Given the description of an element on the screen output the (x, y) to click on. 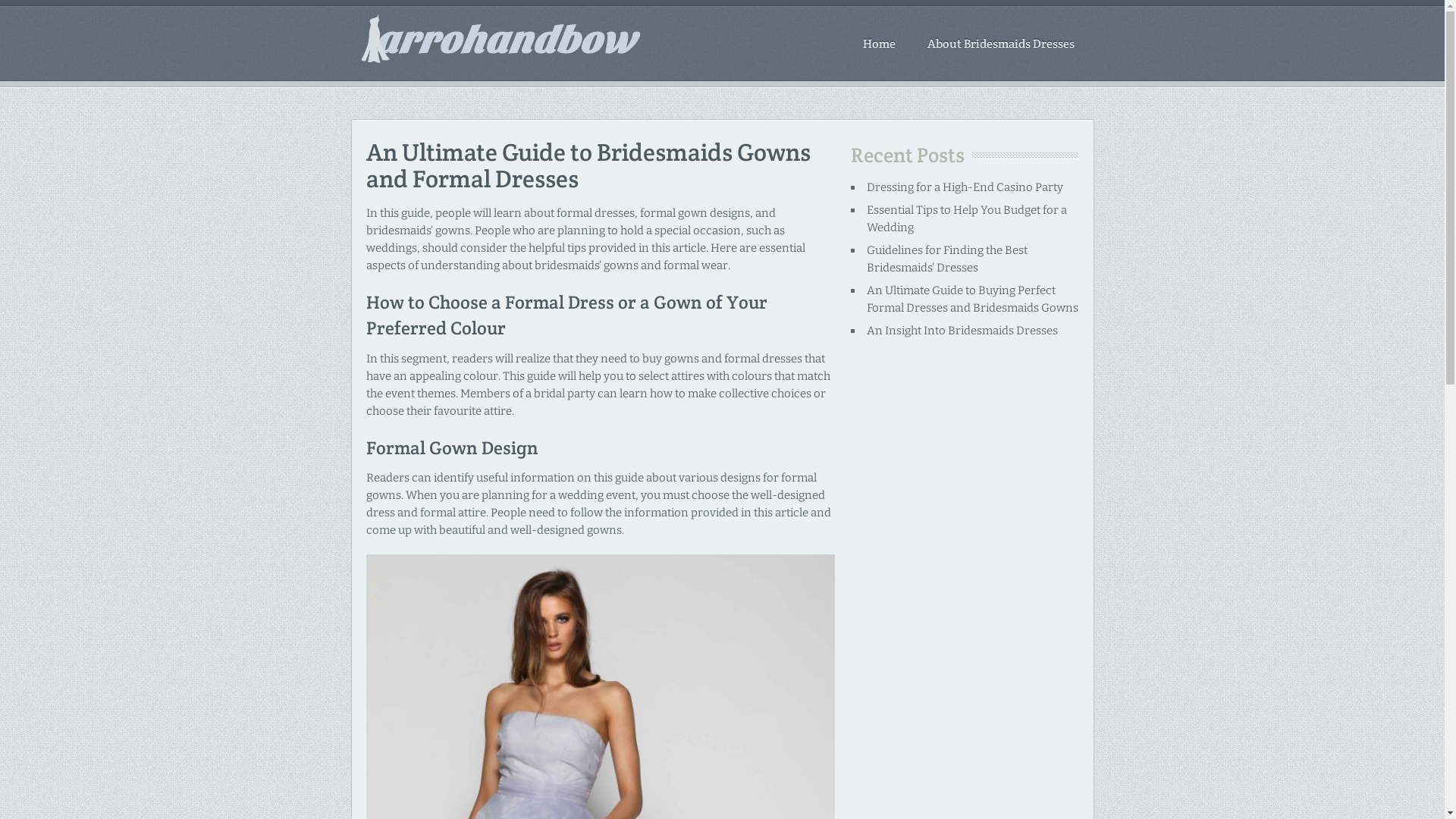
Home Element type: text (878, 43)
An Insight Into Bridesmaids Dresses Element type: text (961, 330)
Dressing for a High-End Casino Party Element type: text (964, 187)
About Bridesmaids Dresses Element type: text (999, 43)
Essential Tips to Help You Budget for a Wedding Element type: text (966, 218)
